Given the description of an element on the screen output the (x, y) to click on. 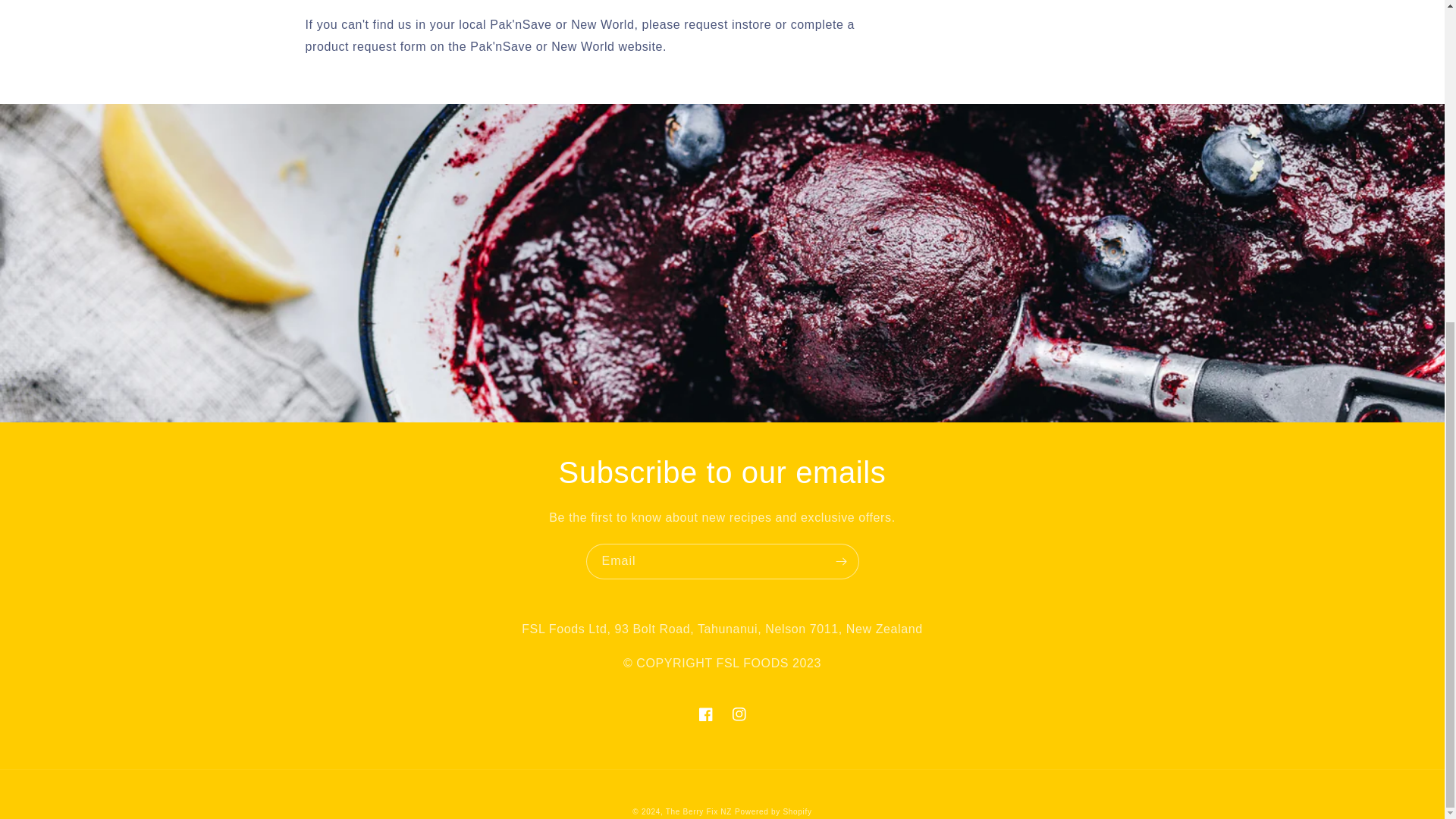
Facebook (705, 714)
The Berry Fix NZ (698, 811)
Powered by Shopify (773, 811)
Instagram (738, 714)
